Given the description of an element on the screen output the (x, y) to click on. 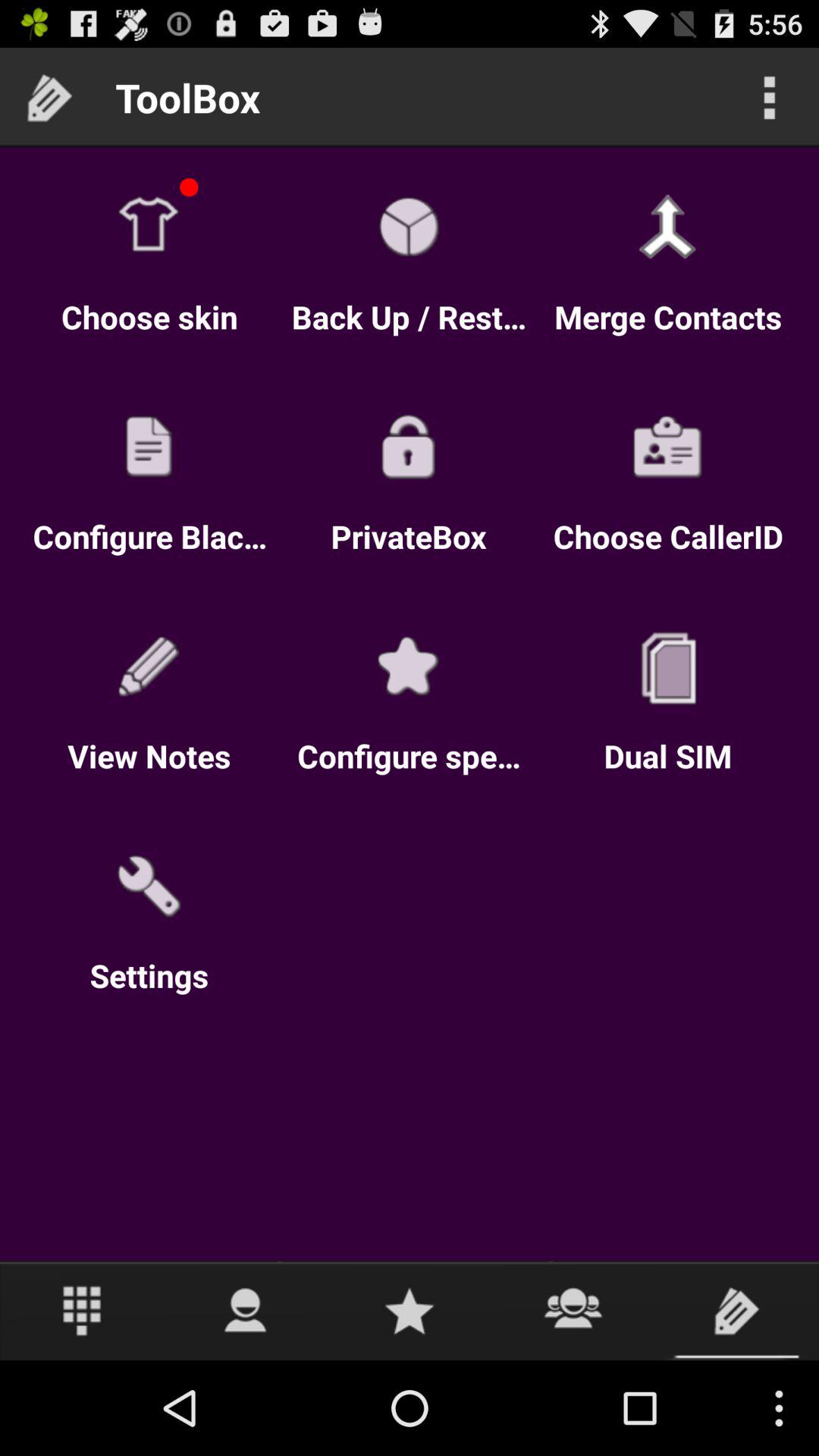
profile (245, 1310)
